Given the description of an element on the screen output the (x, y) to click on. 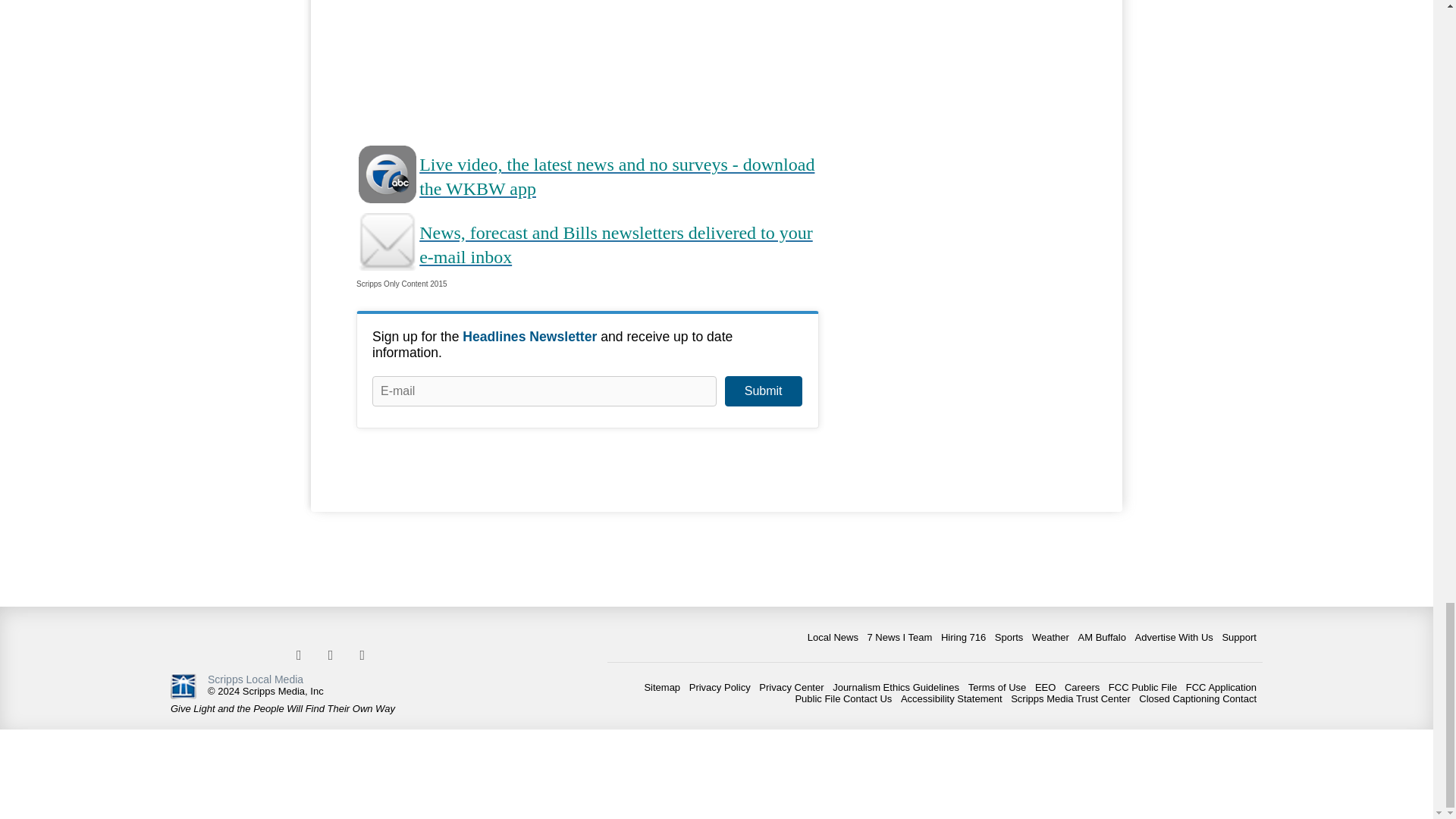
Submit (763, 390)
